Given the description of an element on the screen output the (x, y) to click on. 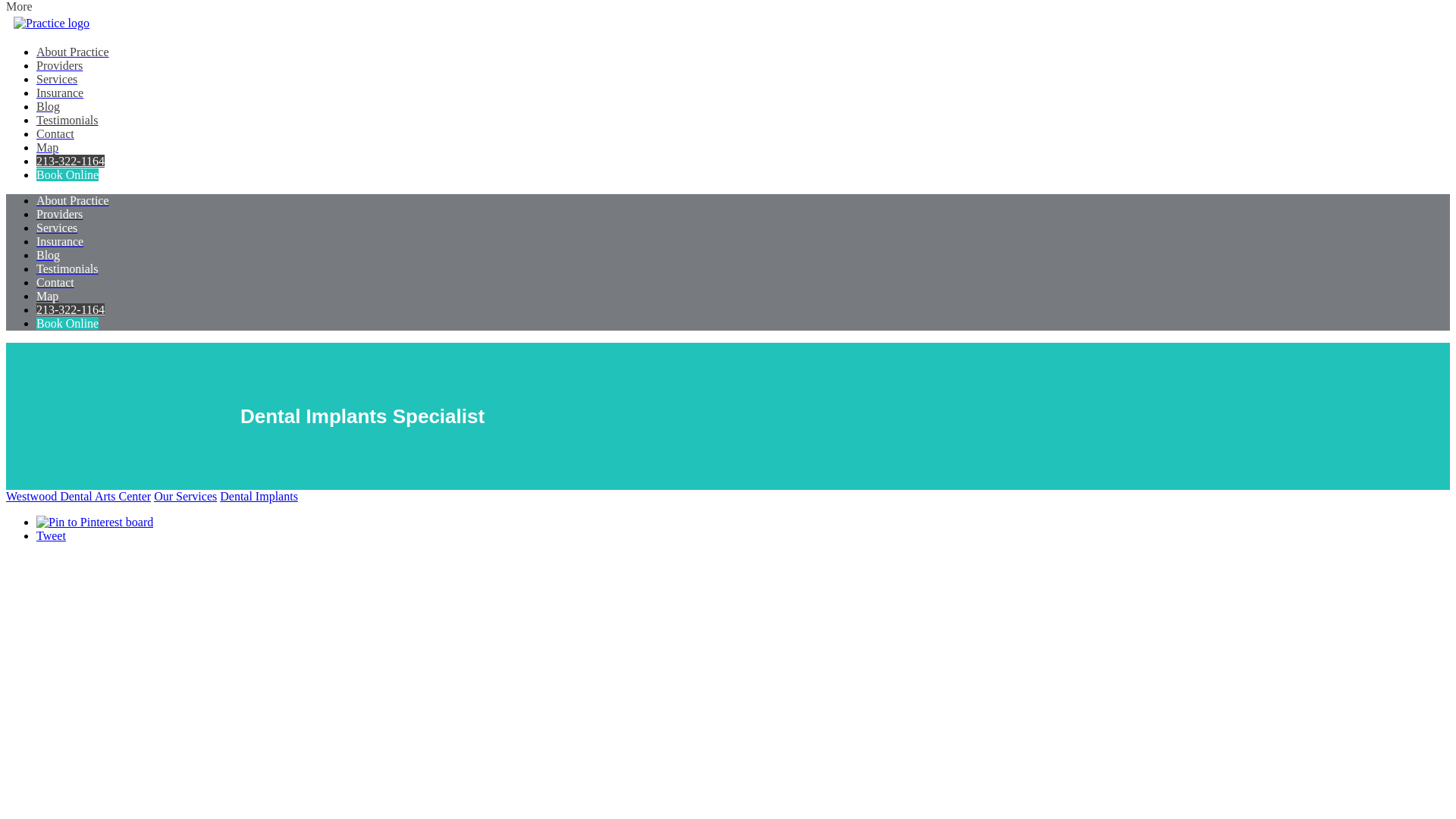
Insurance (59, 241)
Westwood Dental Arts Center (78, 495)
213-322-1164 (70, 160)
Insurance (59, 92)
Testimonials (67, 119)
Contact (55, 282)
Testimonials (67, 268)
Providers (59, 65)
Providers (59, 214)
Book Online (67, 323)
Tweet (50, 535)
Book Online (67, 174)
Dental Implants (258, 495)
213-322-1164 (70, 309)
